Given the description of an element on the screen output the (x, y) to click on. 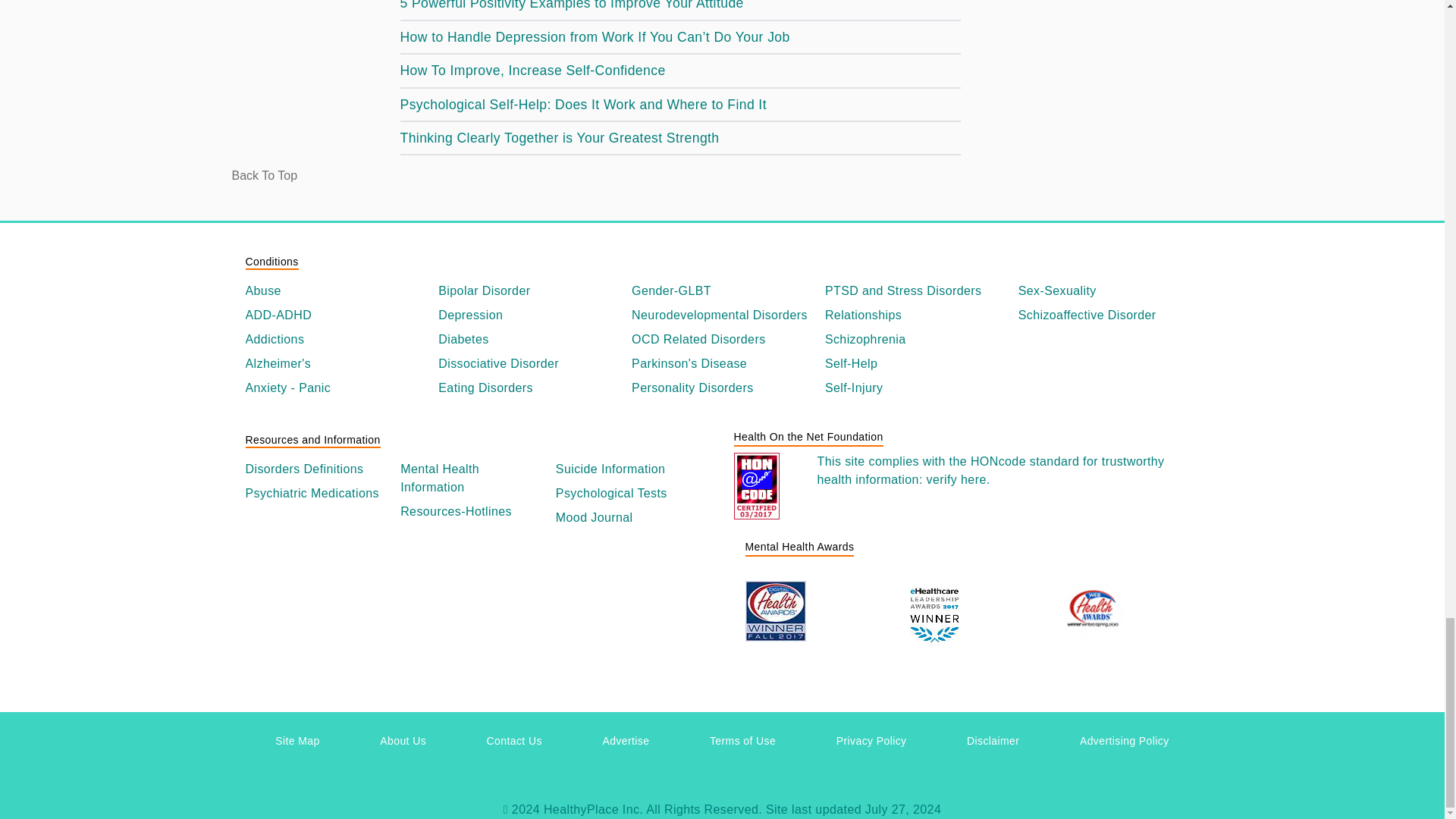
Parkinson's Disease Information Articles (721, 363)
